Given the description of an element on the screen output the (x, y) to click on. 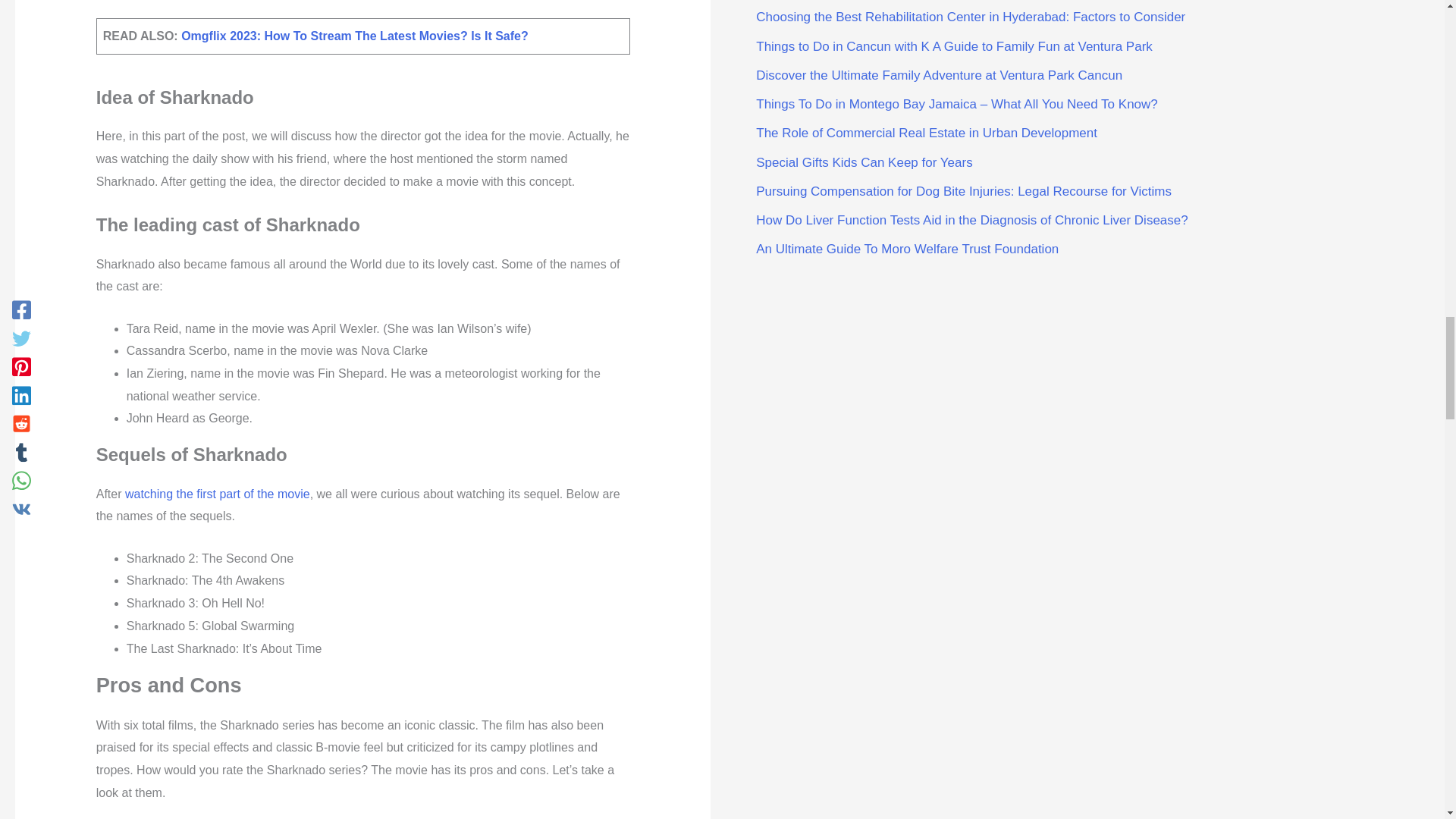
Soap2Day: Watch Movies And Tv Shows, Is It Safe to use? (217, 493)
